Given the description of an element on the screen output the (x, y) to click on. 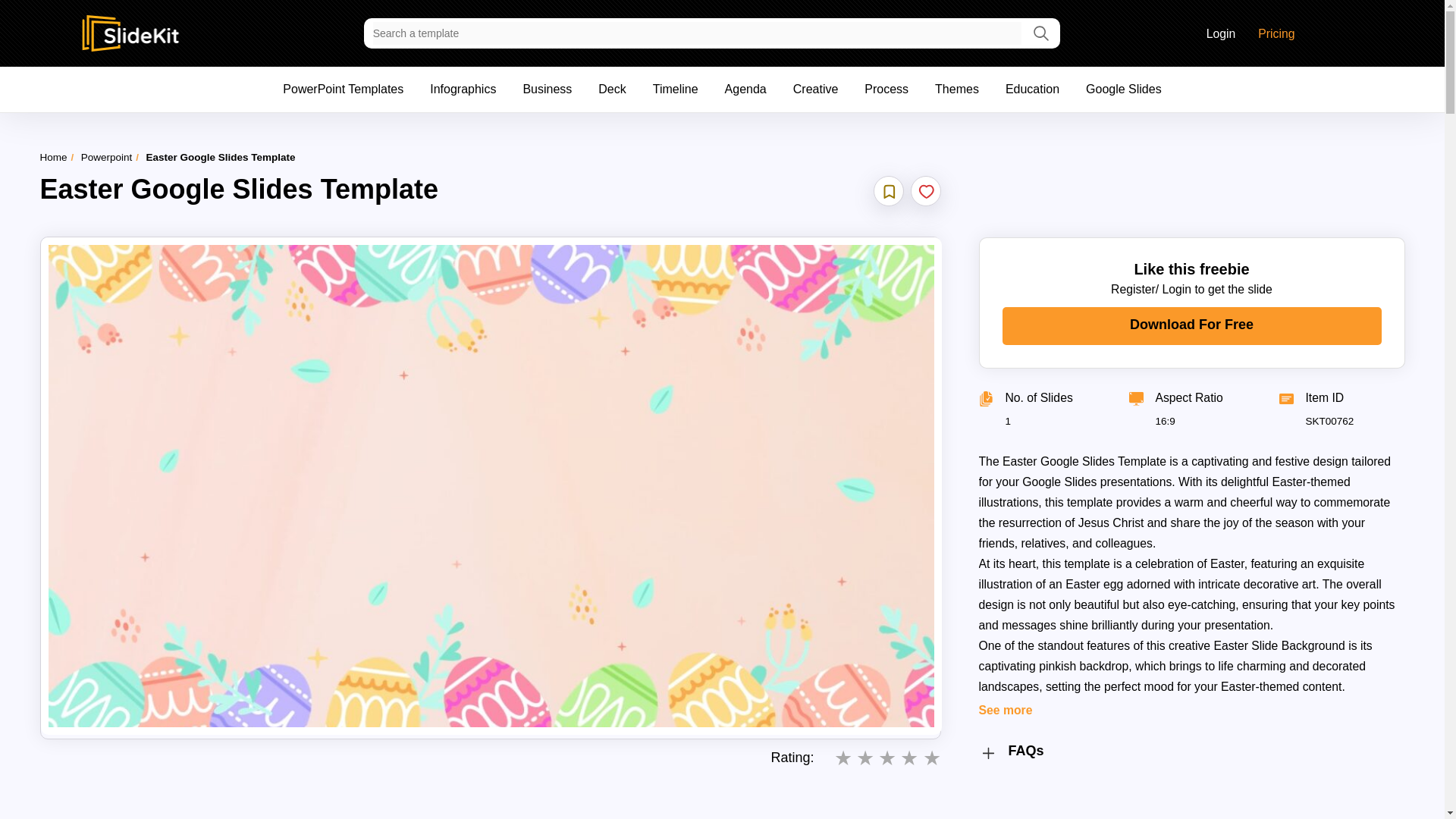
Agenda (746, 89)
Process (886, 89)
Google Slides (1123, 89)
Home (52, 156)
5 star (930, 759)
Timeline (675, 89)
Themes (956, 89)
1 star (842, 759)
4 star (908, 759)
Pricing (1275, 35)
